Given the description of an element on the screen output the (x, y) to click on. 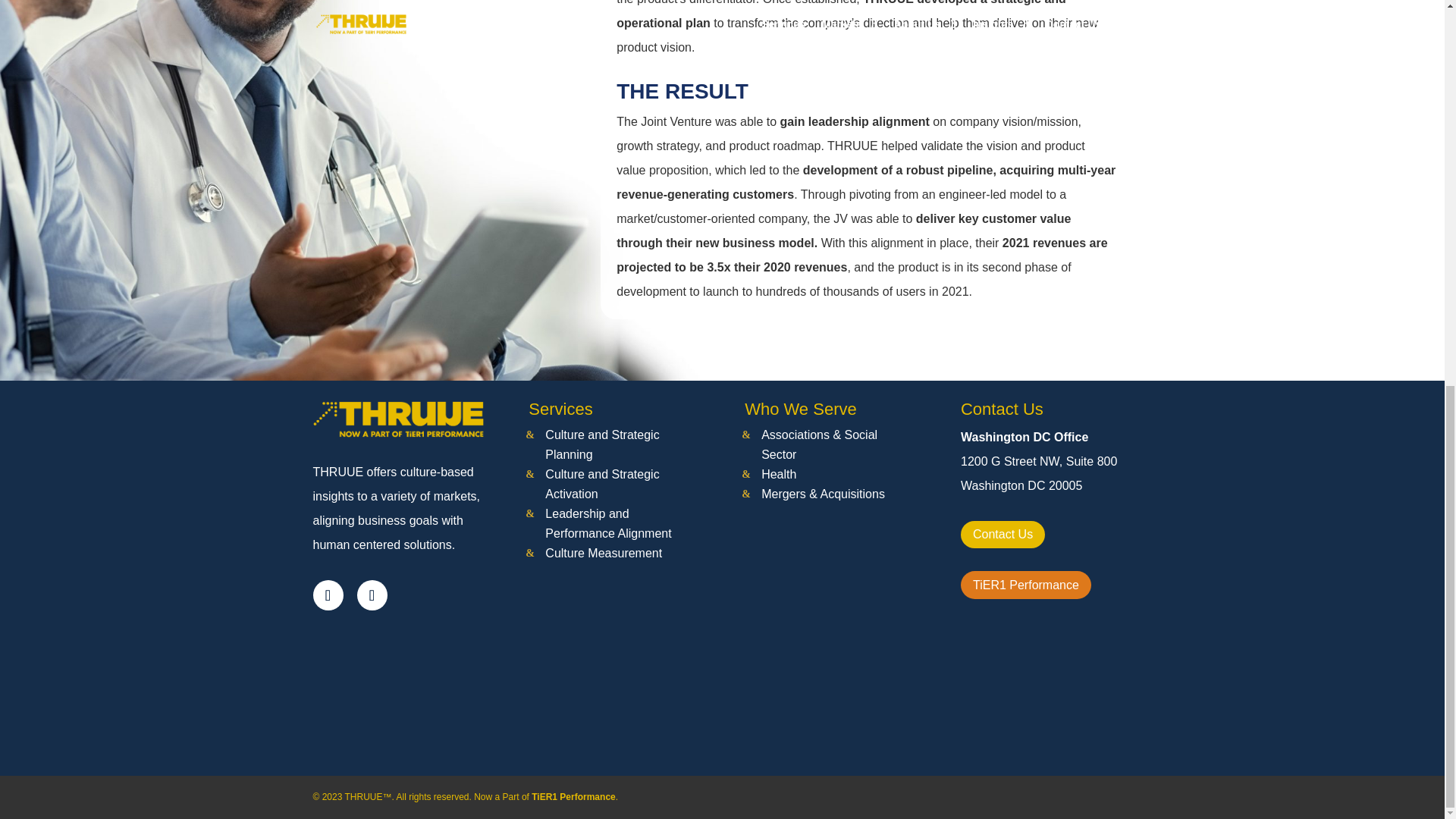
thruue-logo (398, 419)
Follow on Facebook (371, 594)
Follow on LinkedIn (327, 594)
